Given the description of an element on the screen output the (x, y) to click on. 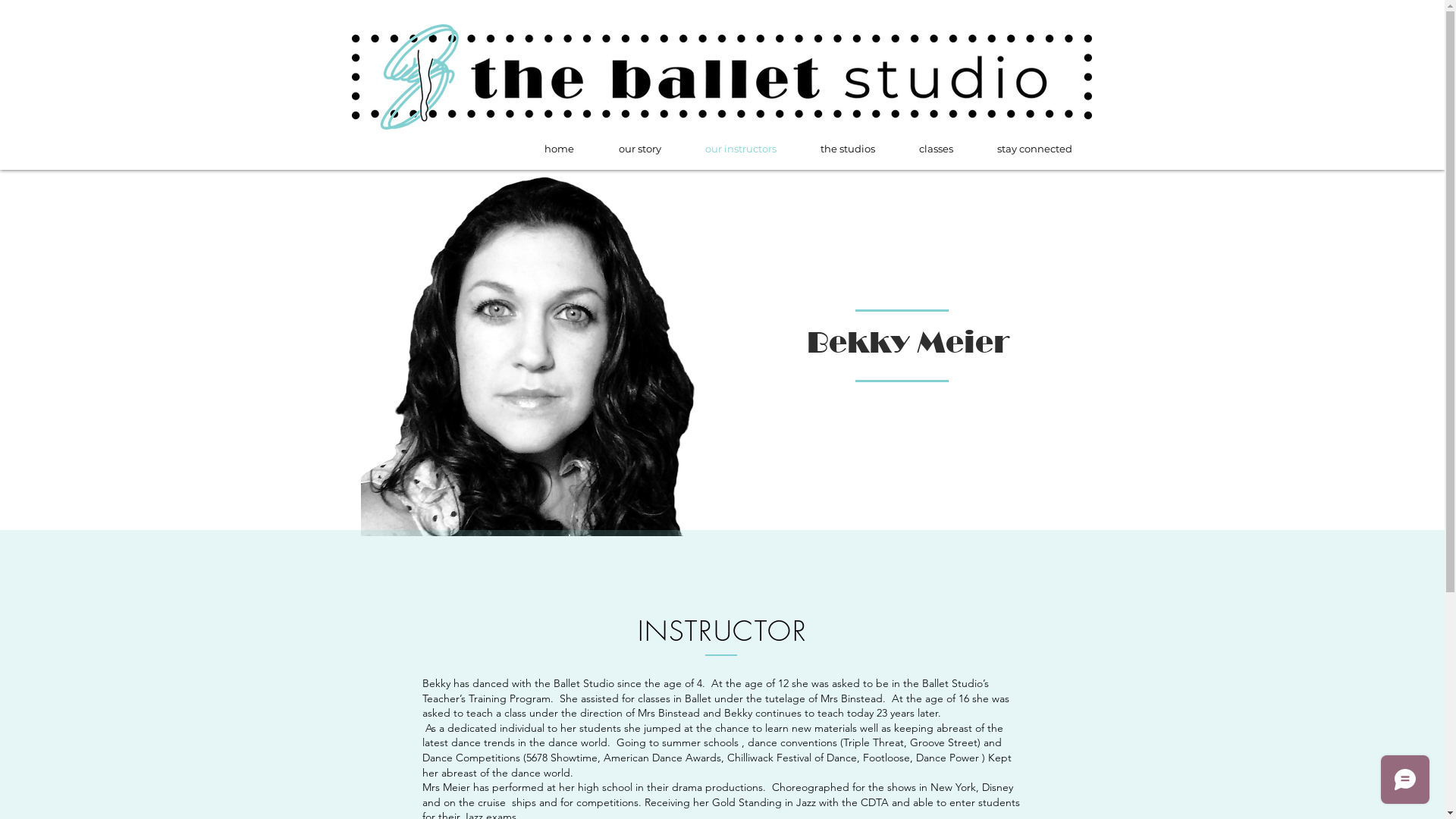
home Element type: text (558, 148)
stay connected Element type: text (1034, 148)
our instructors Element type: text (739, 148)
our story Element type: text (639, 148)
the studios Element type: text (846, 148)
classes Element type: text (935, 148)
